Given the description of an element on the screen output the (x, y) to click on. 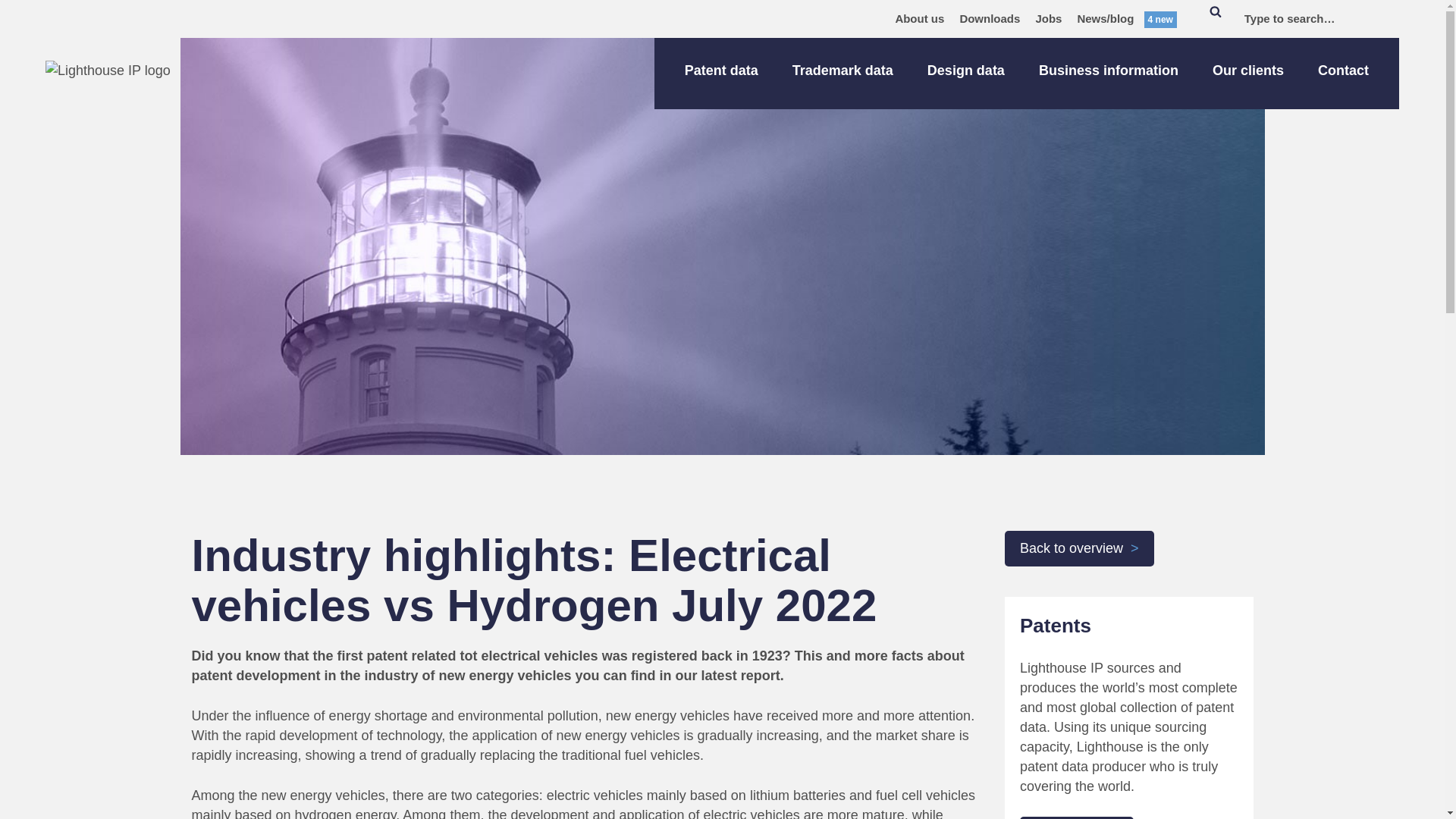
Back to overview (1079, 548)
Our clients (1248, 73)
Design data (965, 73)
Jobs (1048, 18)
Search (1215, 17)
Business information (1108, 73)
Contact (1342, 73)
Trademark data (842, 73)
Read more (1077, 817)
About us (919, 18)
